Given the description of an element on the screen output the (x, y) to click on. 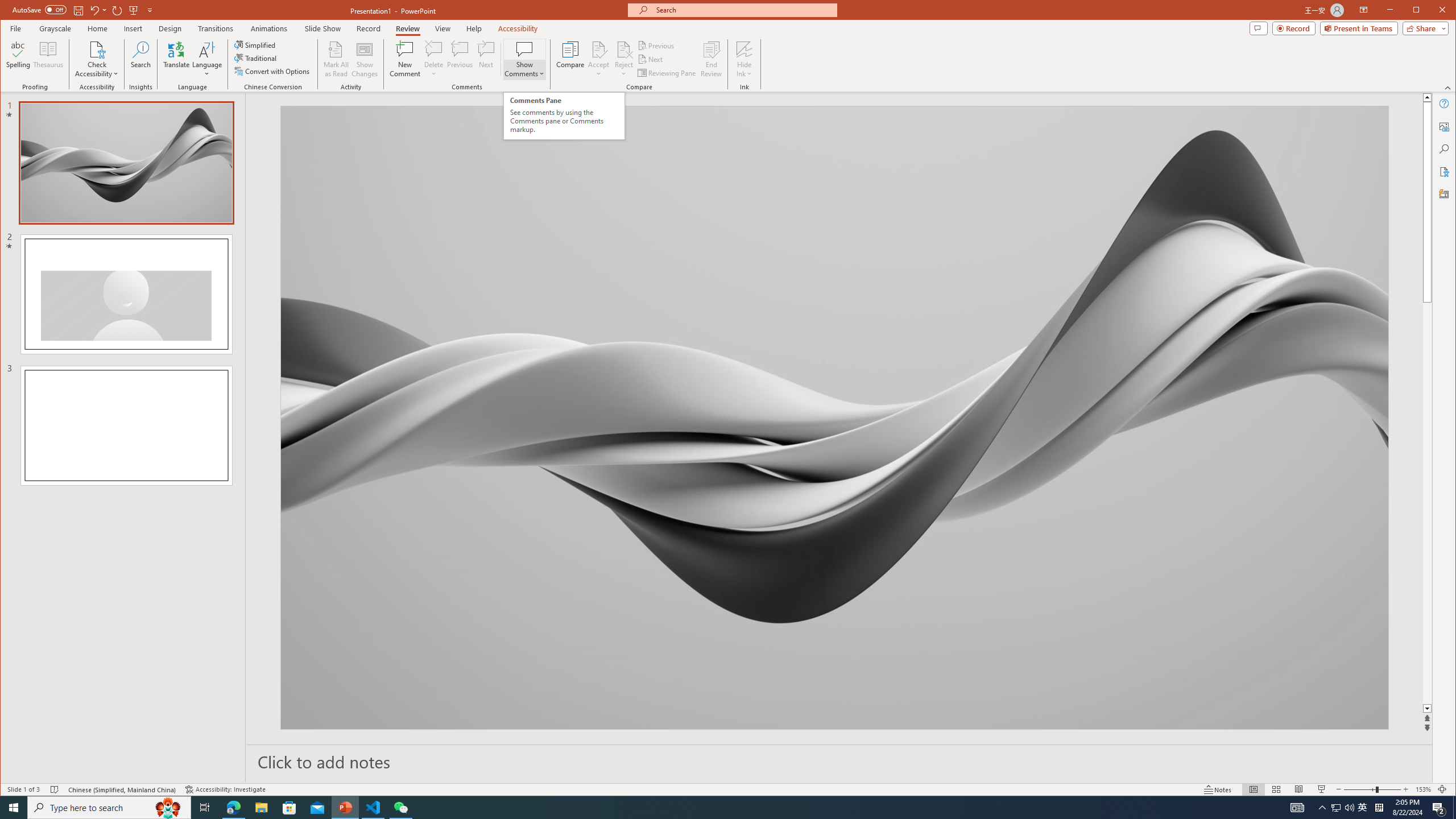
User Promoted Notification Area (1342, 807)
Thesaurus... (48, 59)
Search (1444, 148)
Microsoft search (742, 10)
Check Accessibility (96, 59)
Previous (657, 45)
End Review (710, 59)
Show Comments (524, 59)
Running applications (707, 807)
Accessibility Checker Accessibility: Investigate (225, 789)
